Given the description of an element on the screen output the (x, y) to click on. 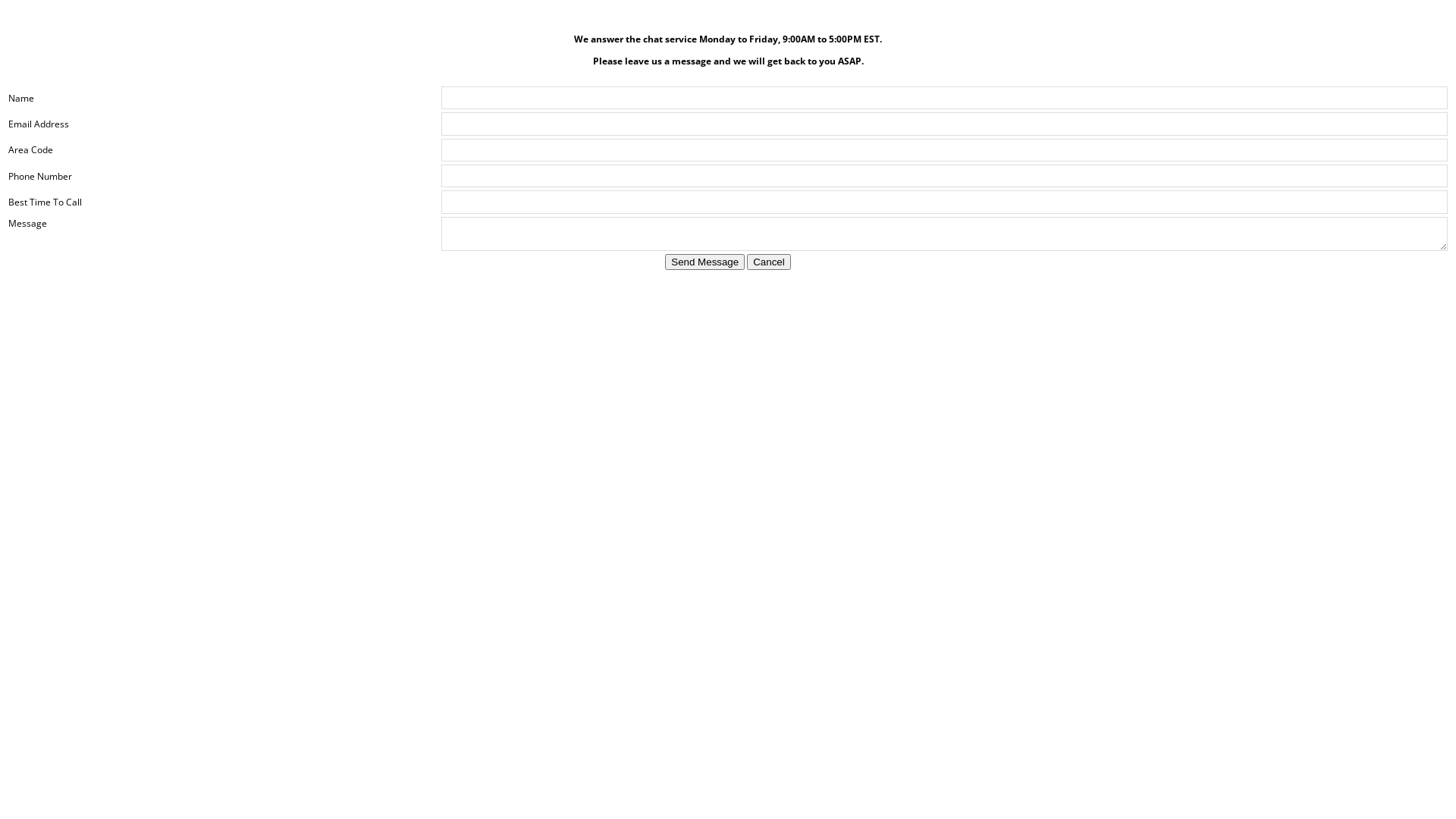
Send Message Element type: text (704, 261)
Cancel Element type: text (768, 261)
